Given the description of an element on the screen output the (x, y) to click on. 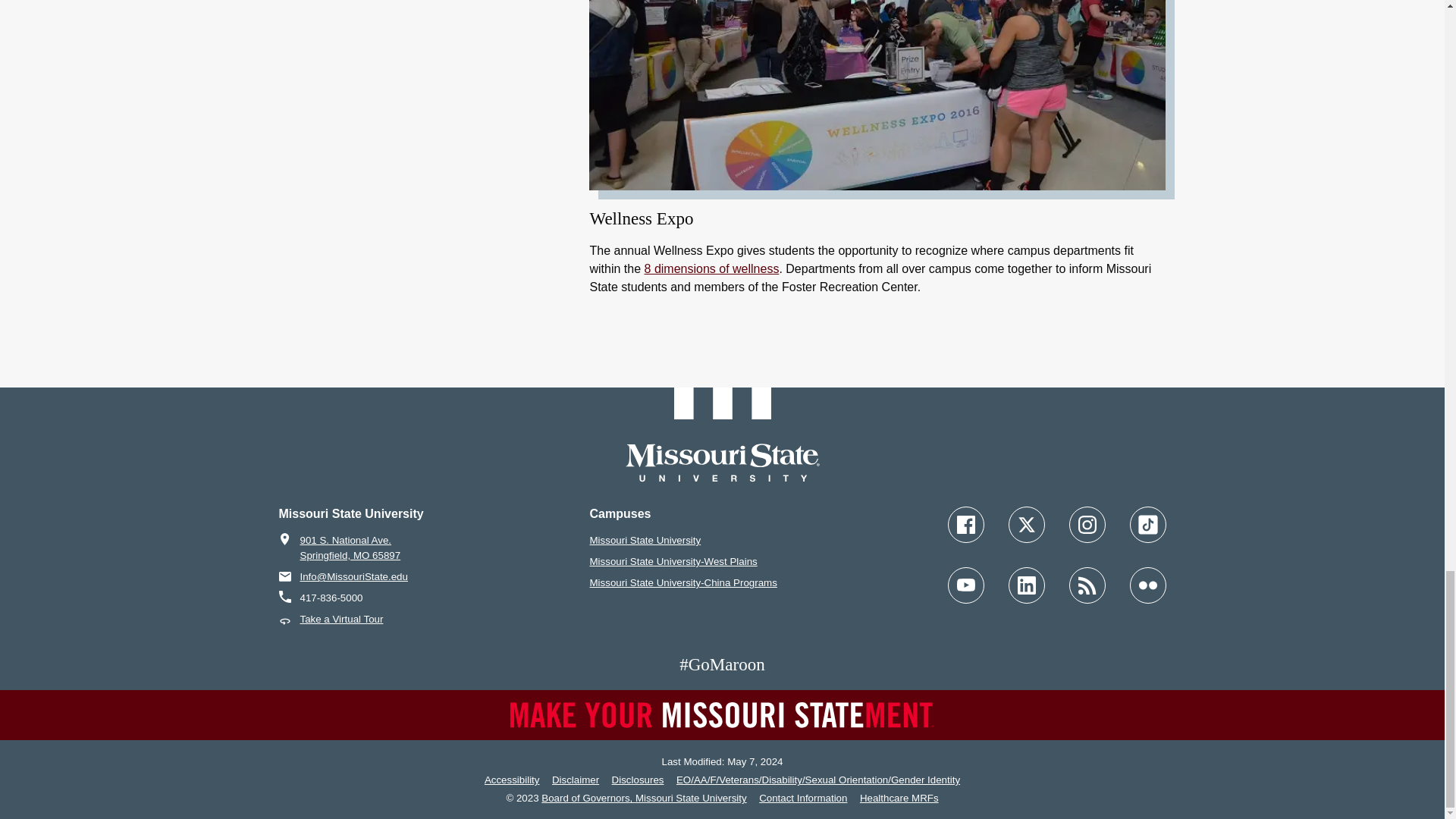
Follow Missouri State on X (1027, 524)
Follow Missouri State on TikTok (1147, 524)
Follow Missouri State on Flickr (1147, 585)
Follow Missouri State on Instagram (1086, 524)
Follow Missouri State on LinkedIn (1027, 585)
Follow Missouri State on YouTube (965, 585)
Follow Missouri State Blogs (1086, 585)
Follow Missouri State on Facebook (965, 524)
